Given the description of an element on the screen output the (x, y) to click on. 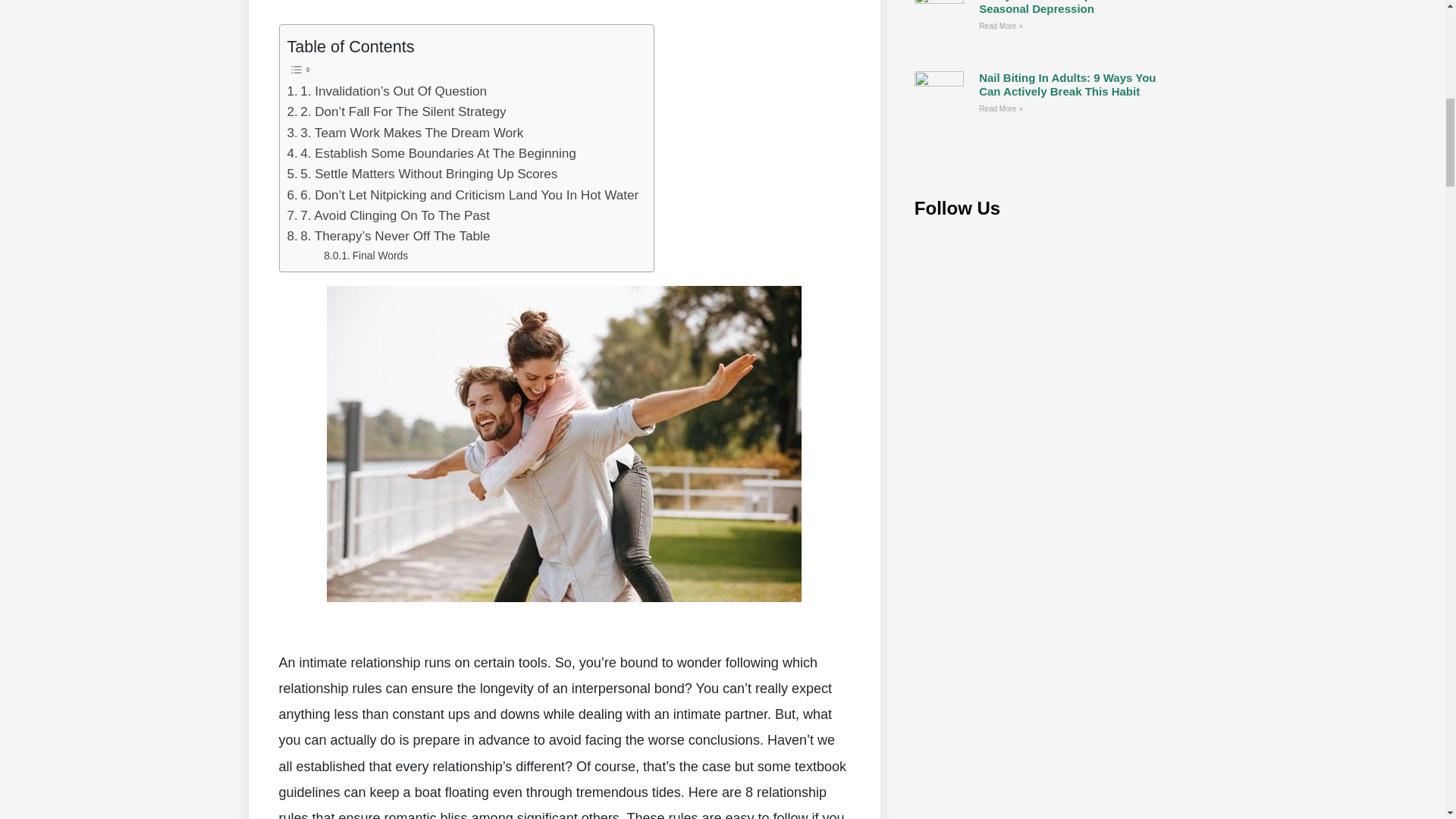
7. Avoid Clinging On To The Past (387, 215)
Final Words (365, 255)
4. Establish Some Boundaries At The Beginning (430, 153)
7. Avoid Clinging On To The Past (387, 215)
3. Team Work Makes The Dream Work (404, 132)
3. Team Work Makes The Dream Work (404, 132)
5. Settle Matters Without Bringing Up Scores (421, 173)
4. Establish Some Boundaries At The Beginning (430, 153)
5. Settle Matters Without Bringing Up Scores (421, 173)
